Given the description of an element on the screen output the (x, y) to click on. 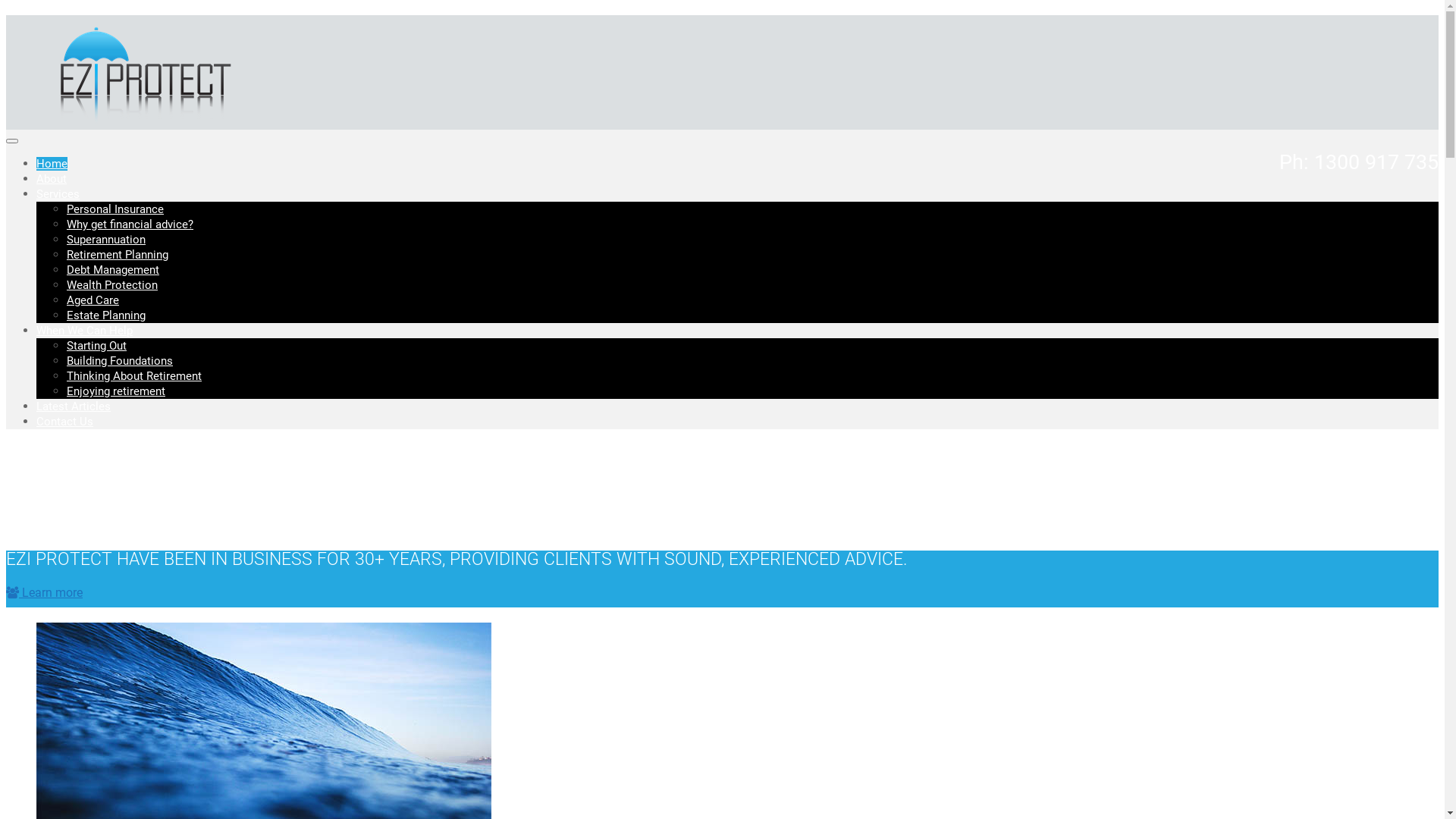
About Element type: text (51, 178)
Contact Us Element type: text (64, 421)
Debt Management Element type: text (112, 269)
Starting Out Element type: text (96, 345)
Enjoying retirement Element type: text (115, 391)
Thinking About Retirement Element type: text (133, 375)
Home Element type: text (51, 163)
Building Foundations Element type: text (119, 360)
When We Can Help Element type: text (84, 330)
Learn more Element type: text (44, 592)
Aged Care Element type: text (92, 300)
EZI Protect Element type: hover (139, 122)
Wealth Protection Element type: text (111, 284)
Retirement Planning Element type: text (117, 254)
Estate Planning Element type: text (105, 315)
Personal Insurance Element type: text (114, 209)
Why get financial advice? Element type: text (129, 224)
Superannuation Element type: text (105, 239)
Latest Articles Element type: text (73, 406)
Services Element type: text (57, 193)
